Given the description of an element on the screen output the (x, y) to click on. 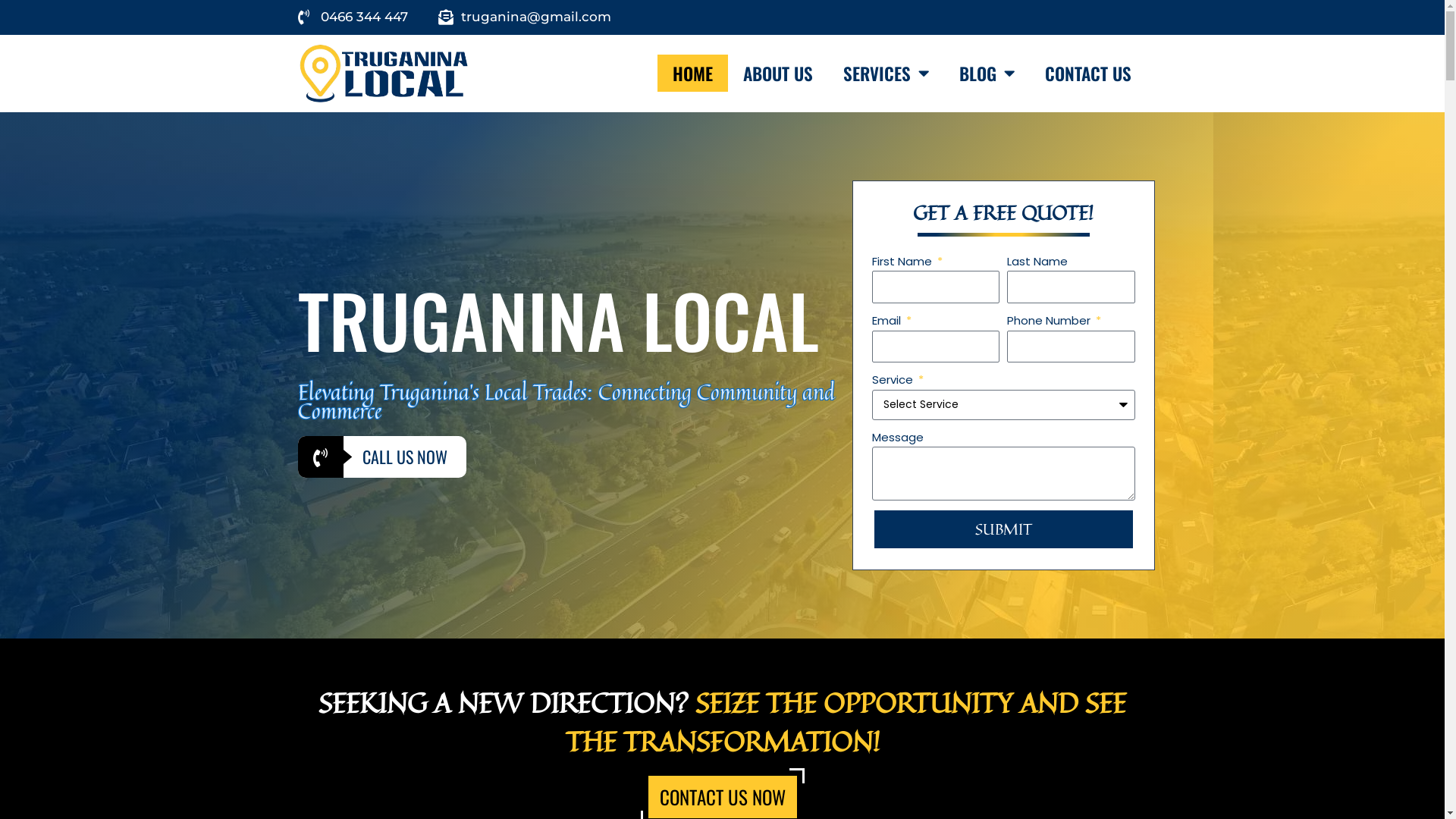
SUBMIT Element type: text (1003, 529)
0466 344 447 Element type: text (352, 17)
CALL US NOW Element type: text (381, 457)
truganina@gmail.com Element type: text (524, 17)
ABOUT US Element type: text (778, 72)
BLOG Element type: text (986, 72)
CONTACT US Element type: text (1087, 72)
SERVICES Element type: text (886, 72)
HOME Element type: text (692, 72)
CONTACT US NOW Element type: text (721, 796)
